Given the description of an element on the screen output the (x, y) to click on. 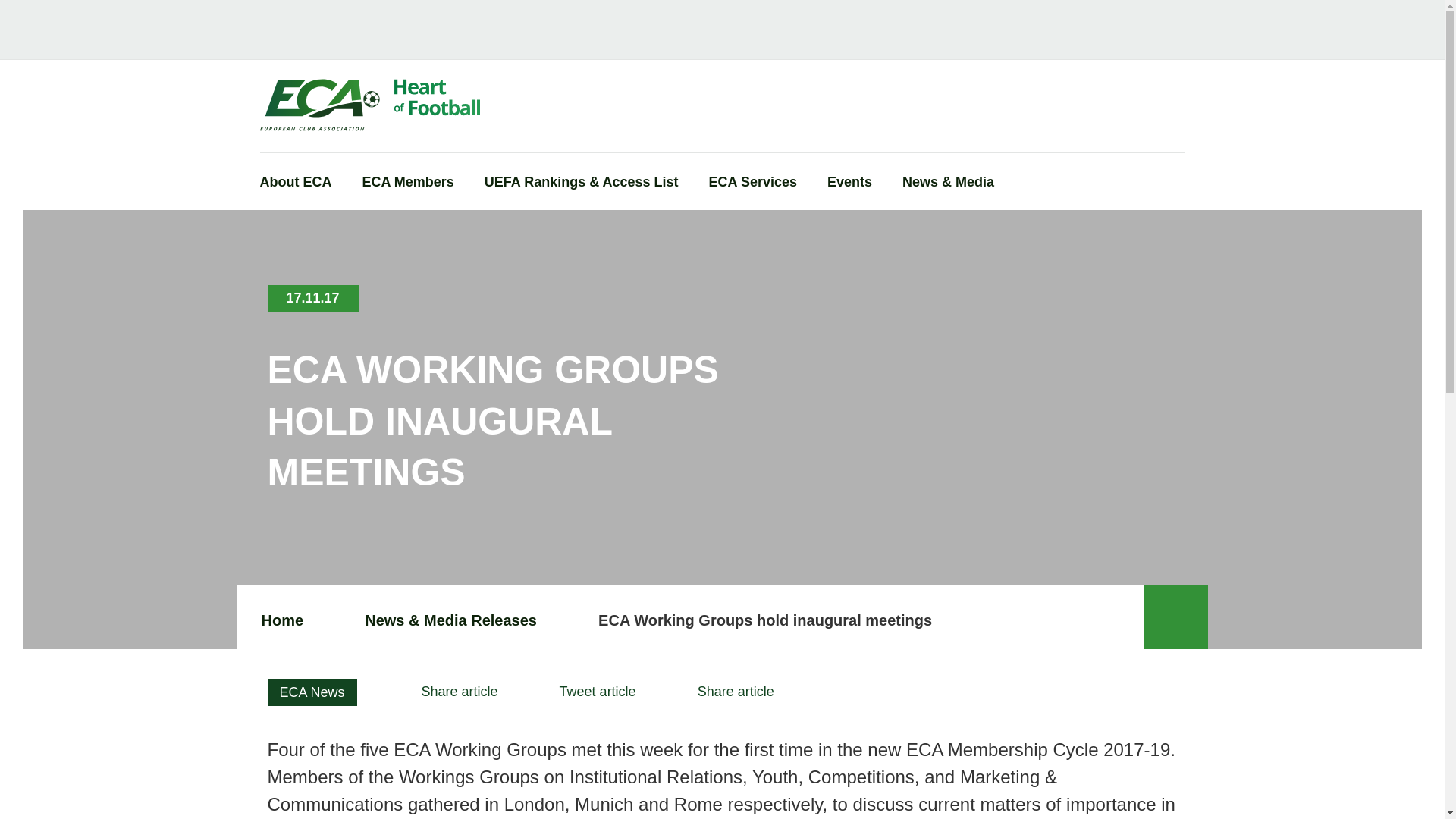
About ECA (295, 190)
Open search (1173, 101)
